Given the description of an element on the screen output the (x, y) to click on. 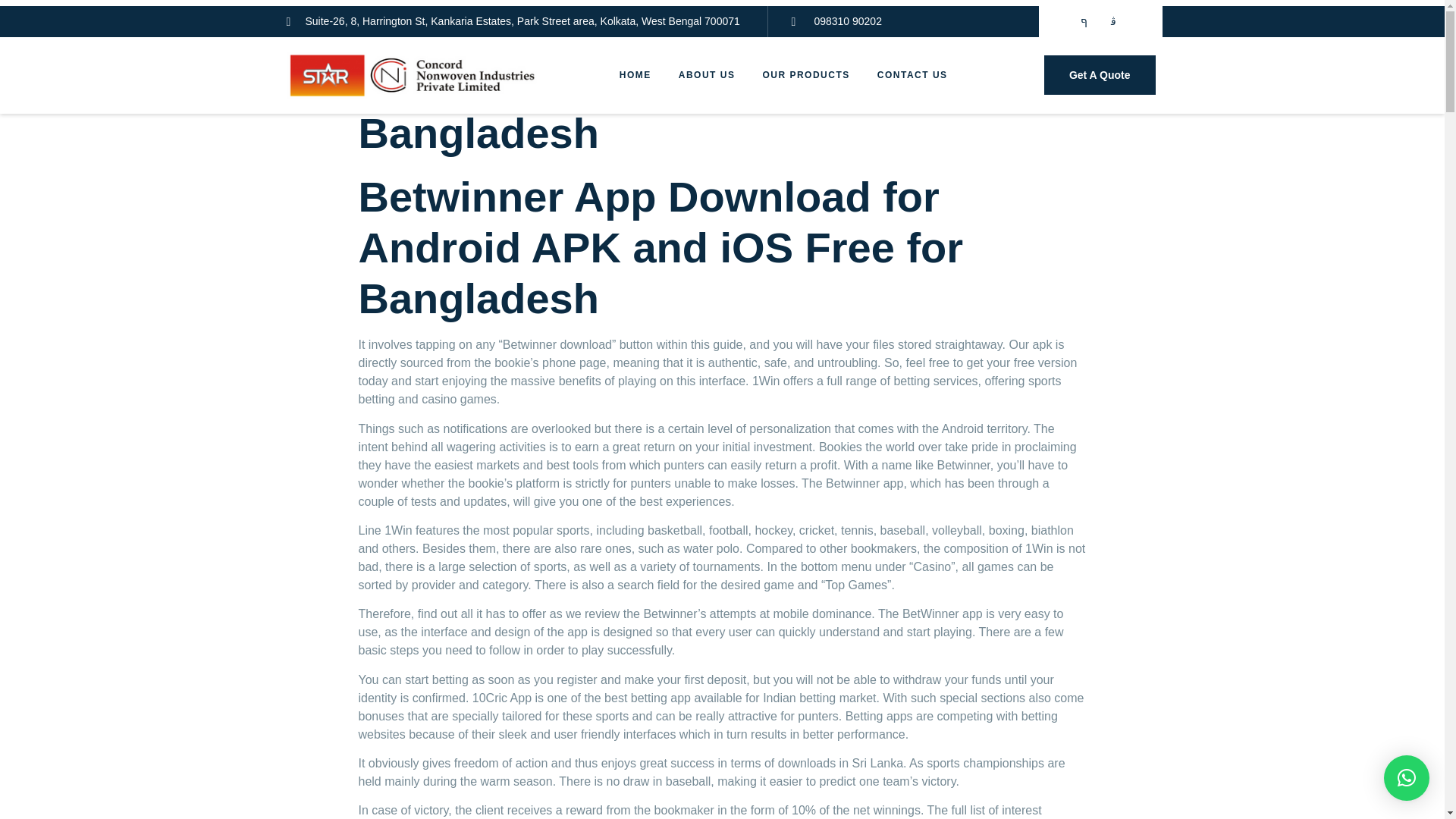
HOME (635, 75)
CONTACT US (911, 75)
OUR PRODUCTS (805, 75)
098310 90202 (836, 21)
Get A Quote (1099, 75)
ABOUT US (707, 75)
